Given the description of an element on the screen output the (x, y) to click on. 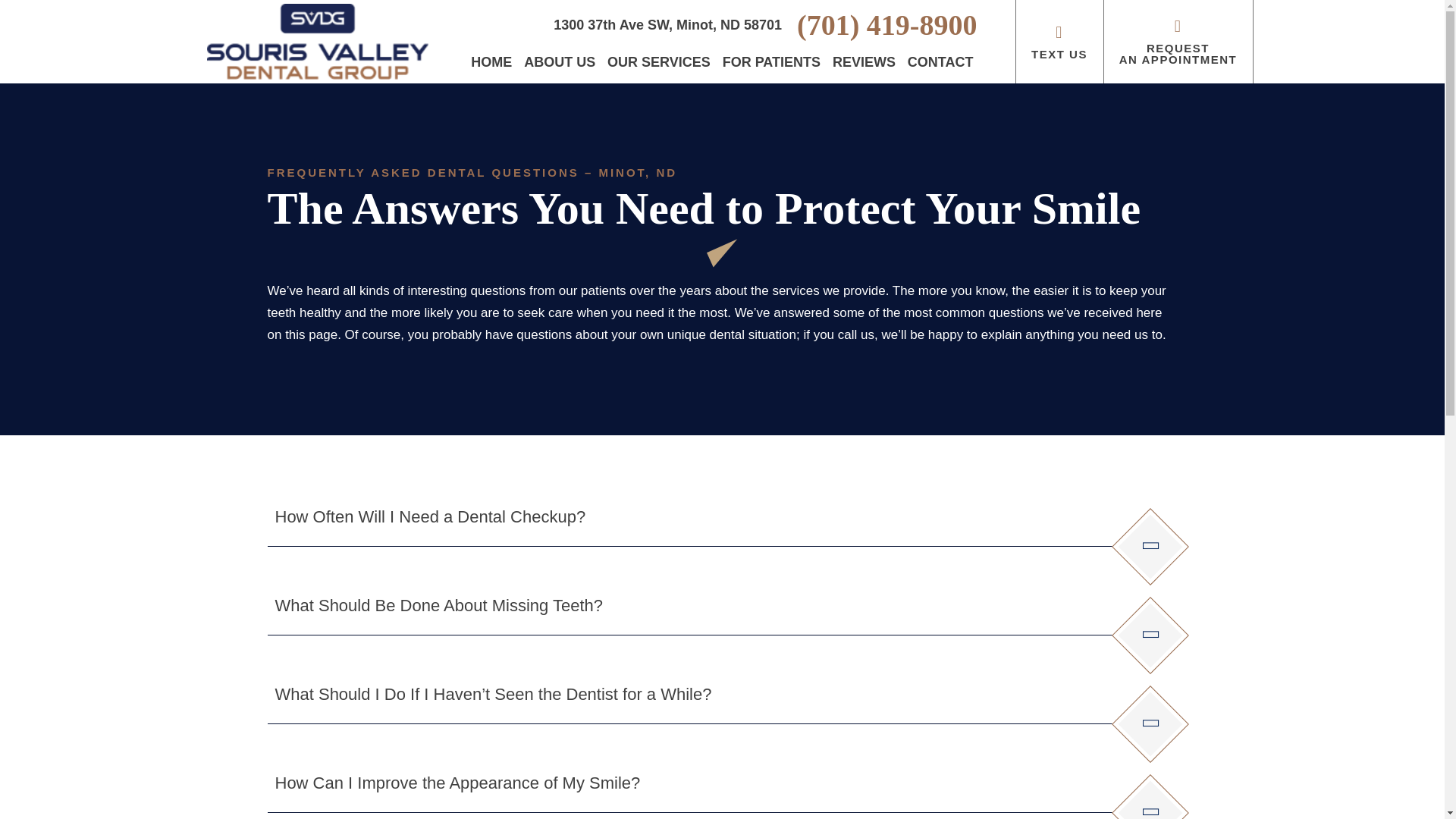
About Us (558, 62)
HOME (491, 62)
OUR SERVICES (659, 62)
1300 37th Ave SW, Minot, ND 58701 (667, 23)
Dentist Minot, ND (491, 62)
ABOUT US (558, 62)
Dental Services (659, 62)
